Given the description of an element on the screen output the (x, y) to click on. 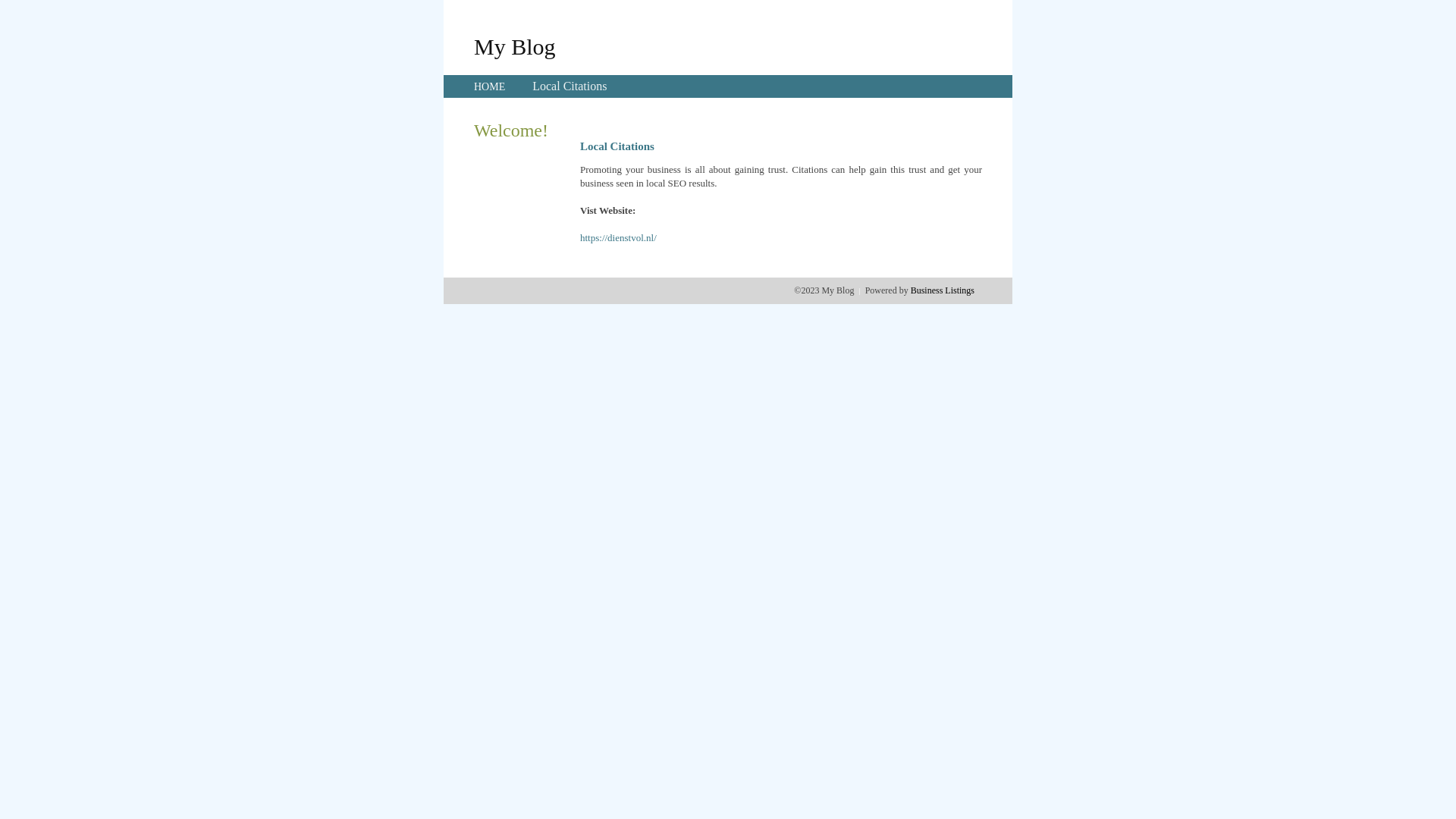
Local Citations Element type: text (569, 85)
My Blog Element type: text (514, 46)
Business Listings Element type: text (942, 290)
https://dienstvol.nl/ Element type: text (618, 237)
HOME Element type: text (489, 86)
